Given the description of an element on the screen output the (x, y) to click on. 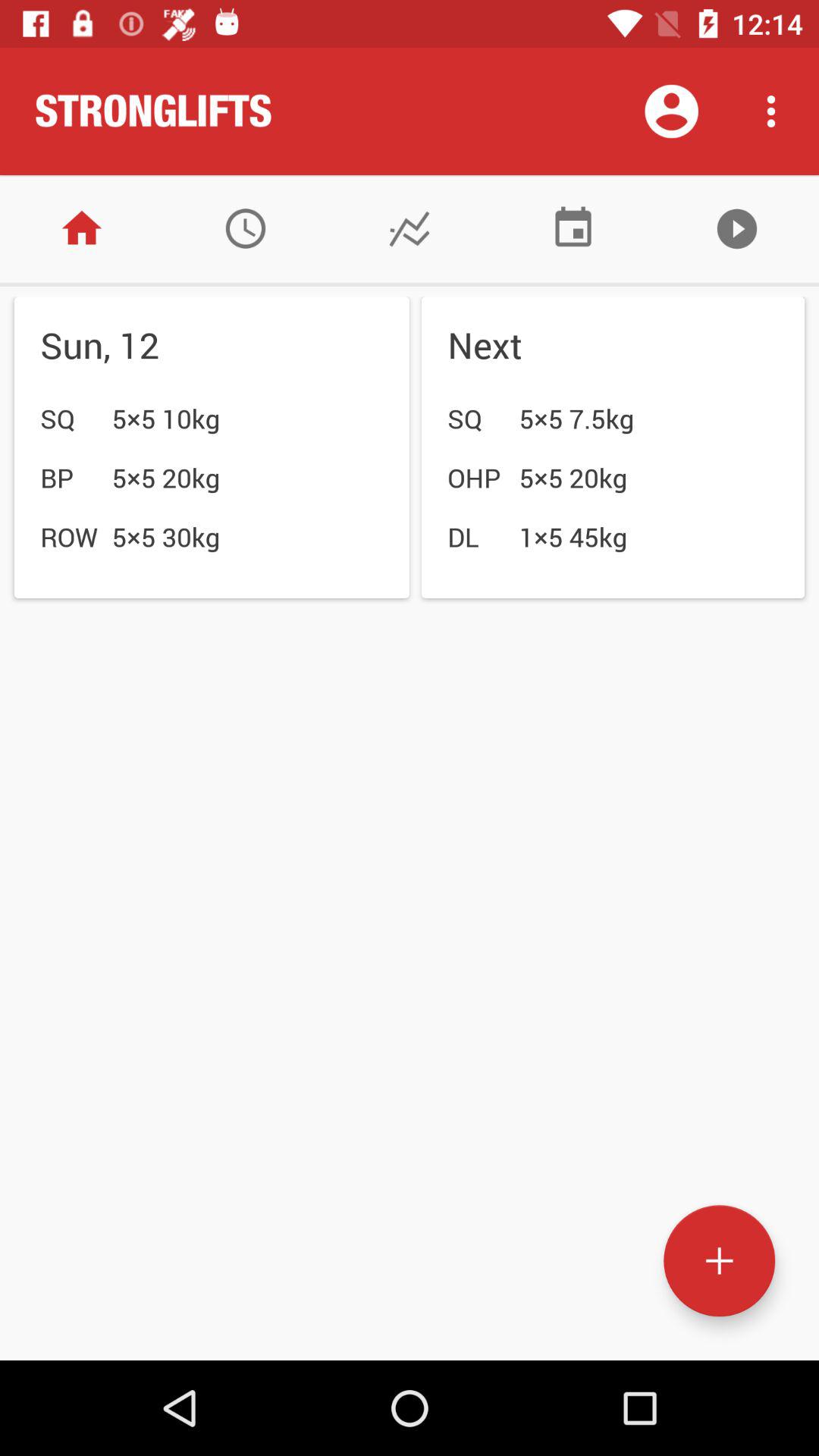
add new (719, 1260)
